Given the description of an element on the screen output the (x, y) to click on. 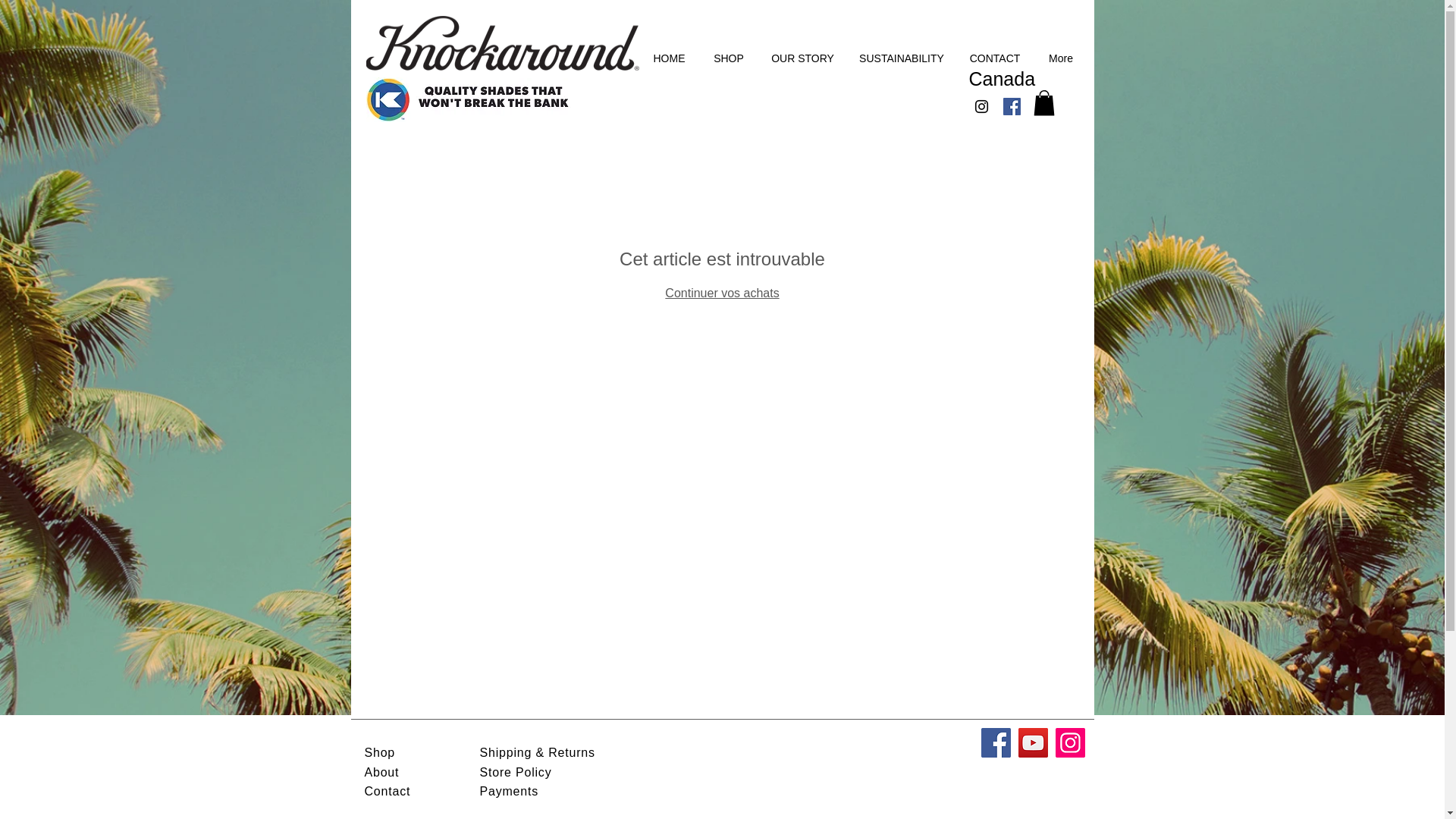
SHOP (727, 57)
HOME (668, 57)
CONTACT (994, 57)
OUR STORY (802, 57)
SUSTAINABILITY (901, 57)
